Given the description of an element on the screen output the (x, y) to click on. 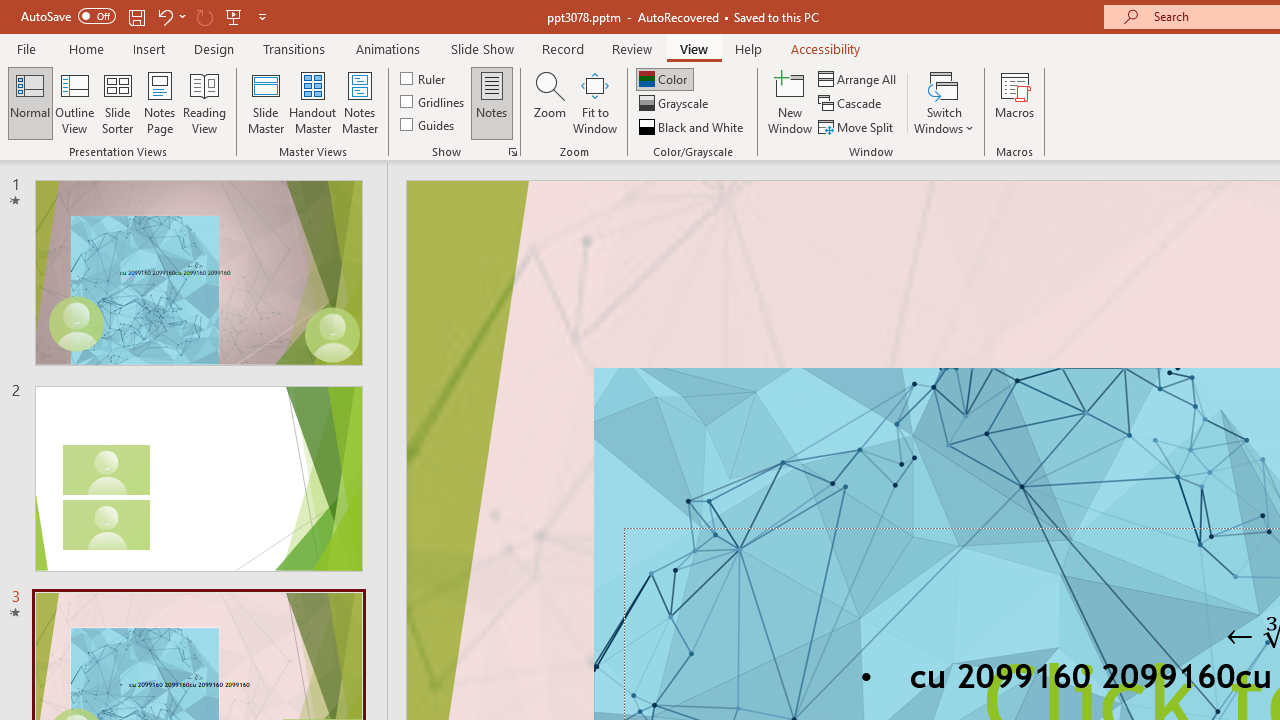
Notes Page (159, 102)
View (693, 48)
Cascade (851, 103)
Insert (149, 48)
Fit to Window (594, 102)
Color (664, 78)
Transitions (294, 48)
Move Split (857, 126)
Guides (428, 124)
Outline View (74, 102)
Normal (29, 102)
